Given the description of an element on the screen output the (x, y) to click on. 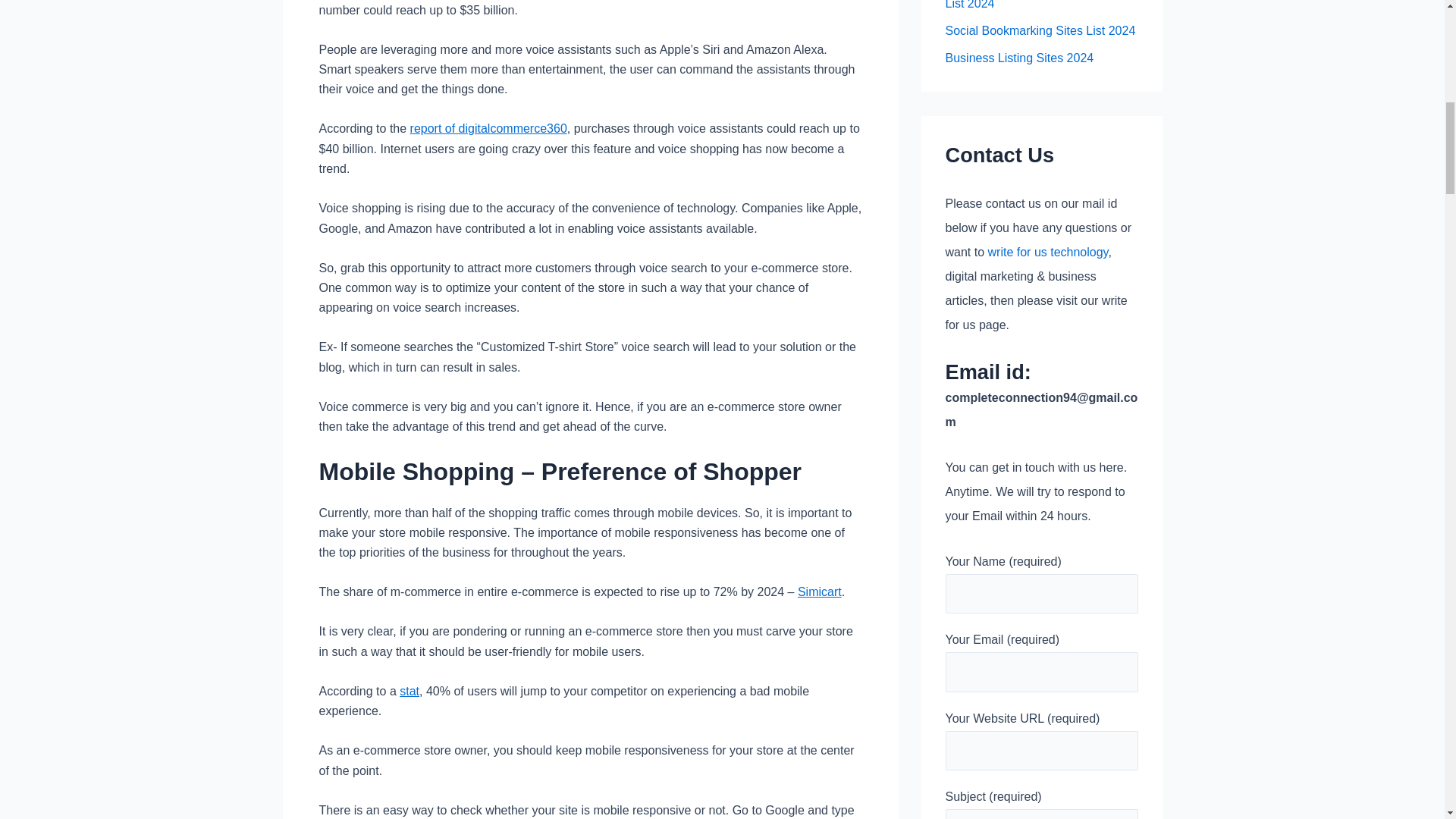
stat (408, 690)
Simicart (819, 591)
report of digitalcommerce360 (488, 128)
